Given the description of an element on the screen output the (x, y) to click on. 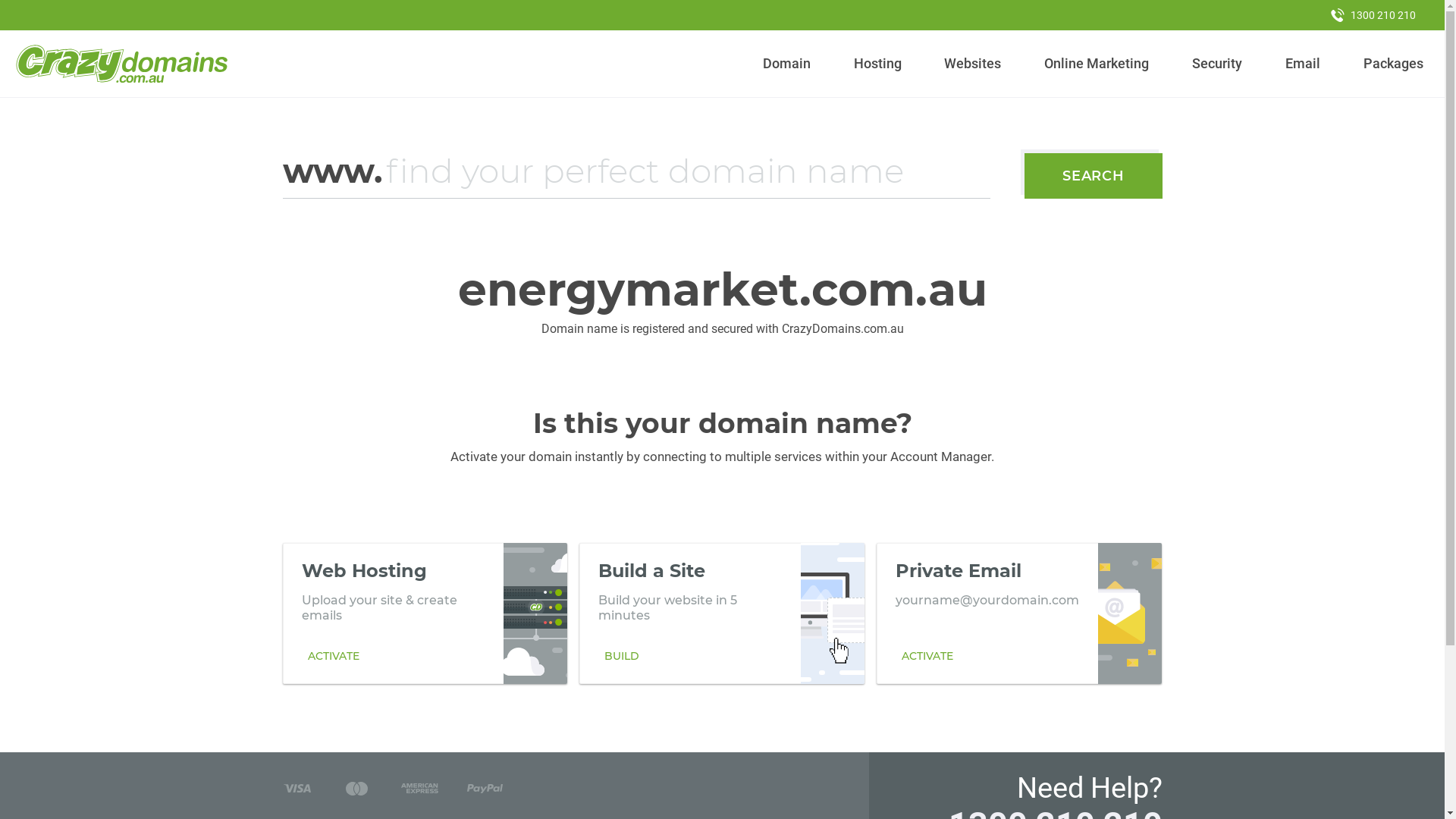
SEARCH Element type: text (1092, 175)
Hosting Element type: text (877, 63)
Web Hosting
Upload your site & create emails
ACTIVATE Element type: text (424, 613)
Email Element type: text (1302, 63)
1300 210 210 Element type: text (1373, 15)
Build a Site
Build your website in 5 minutes
BUILD Element type: text (721, 613)
Security Element type: text (1217, 63)
Private Email
yourname@yourdomain.com
ACTIVATE Element type: text (1018, 613)
Online Marketing Element type: text (1096, 63)
Packages Element type: text (1392, 63)
Websites Element type: text (972, 63)
Domain Element type: text (786, 63)
